Given the description of an element on the screen output the (x, y) to click on. 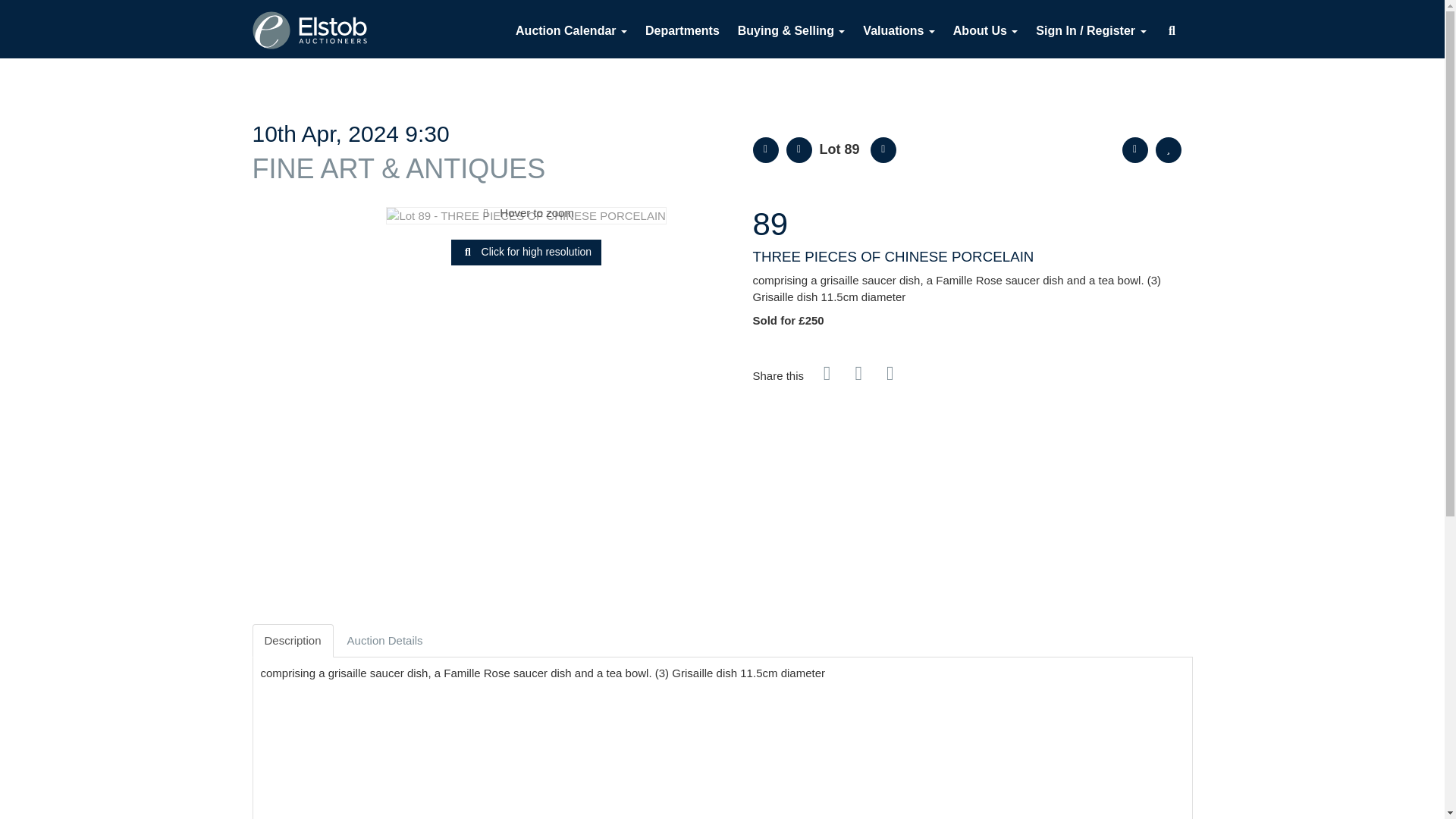
Add to wishlist (1168, 149)
Click for high resolution (525, 215)
Back to list (764, 149)
Previous lot (798, 149)
Share on Linked In (860, 375)
About Us (985, 30)
Go to our instagram page (892, 375)
Next lot (883, 149)
Valuations (898, 30)
Departments (682, 30)
